Given the description of an element on the screen output the (x, y) to click on. 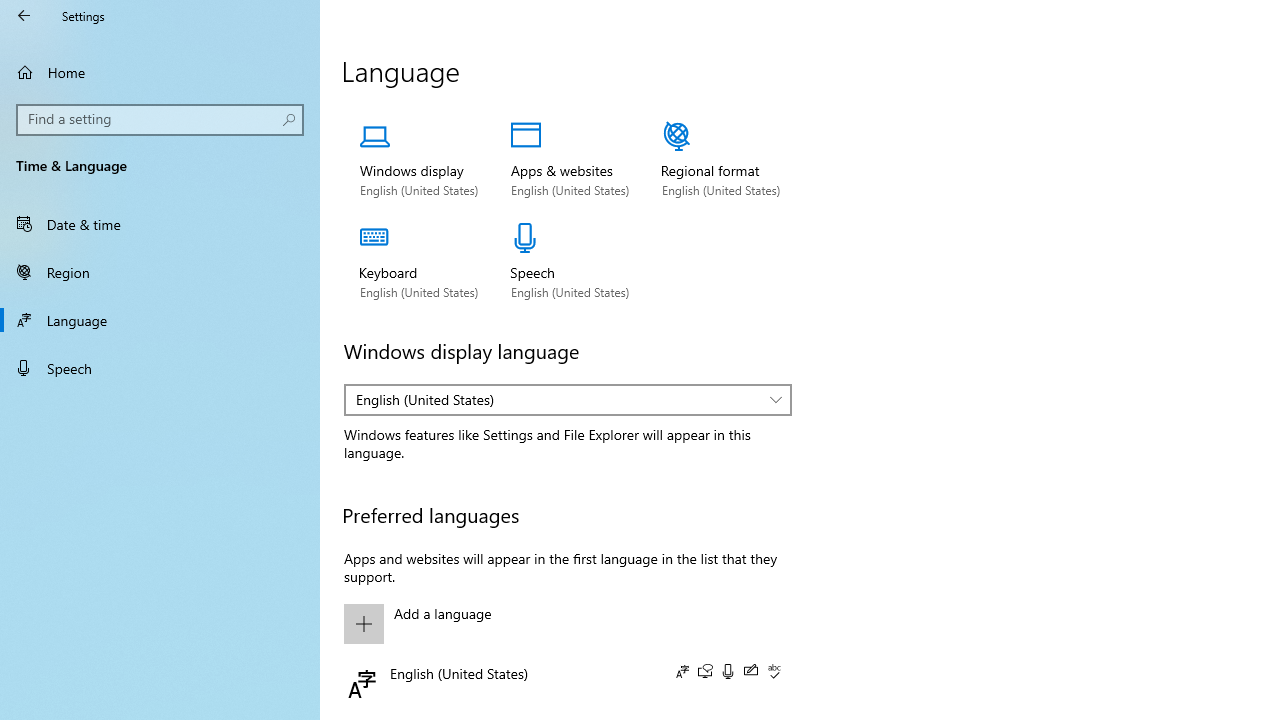
Date & time (160, 223)
Windows display language (568, 399)
Manage regional format language (721, 160)
Language (160, 319)
Back (24, 15)
English (United States) (557, 399)
Manage speech language (570, 261)
Region (160, 271)
Manage keyboard language (418, 261)
Home (160, 71)
Search box, Find a setting (160, 119)
Speech (160, 367)
Manage Windows display language (418, 160)
Manage apps and websites language (570, 160)
